Given the description of an element on the screen output the (x, y) to click on. 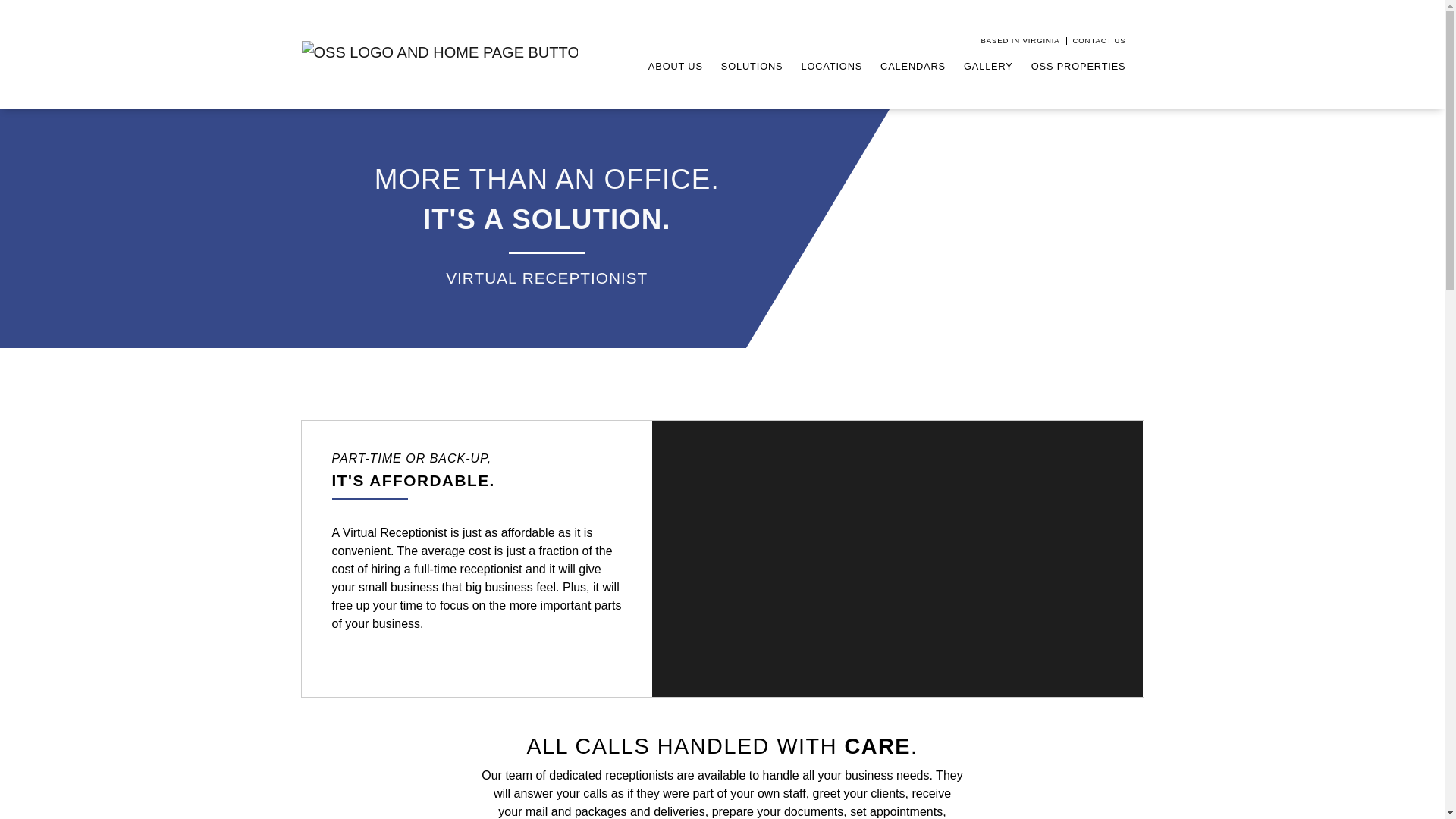
CALENDARS (912, 66)
home button (439, 51)
BASED IN VIRGINIA (1020, 40)
CONTACT US (1099, 40)
OSS PROPERTIES (1077, 66)
LOCATIONS (830, 66)
SOLUTIONS (751, 66)
ABOUT US (675, 66)
GALLERY (988, 66)
